Given the description of an element on the screen output the (x, y) to click on. 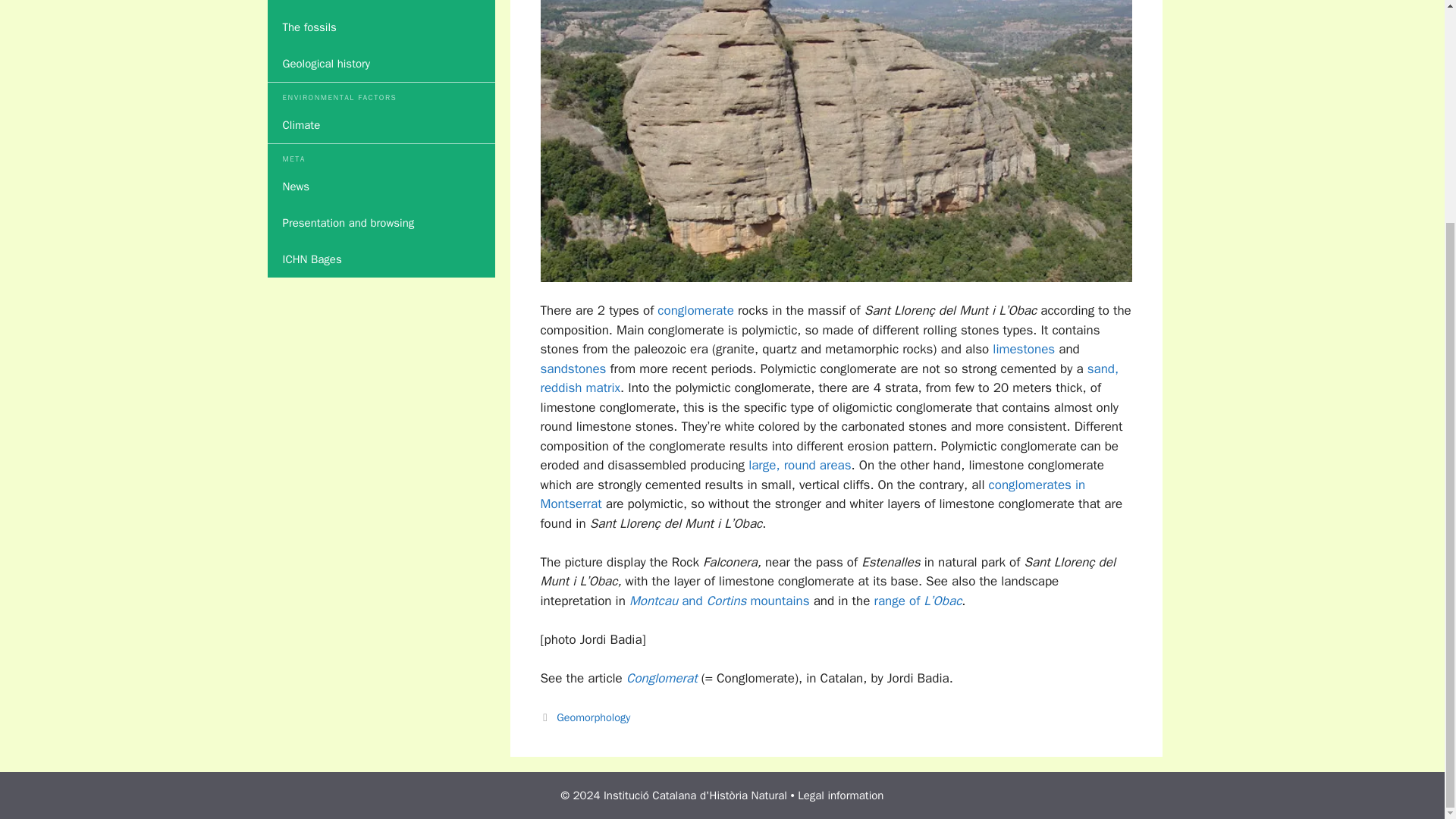
sand, reddish matrix (829, 378)
sandstones (572, 368)
Montcau (654, 600)
limestones (1023, 349)
Geomorphology (593, 716)
conglomerate (695, 310)
conglomerates in Montserrat (812, 494)
large, round areas (799, 465)
Conglomerat (661, 678)
and Cortins mountains (745, 600)
